Given the description of an element on the screen output the (x, y) to click on. 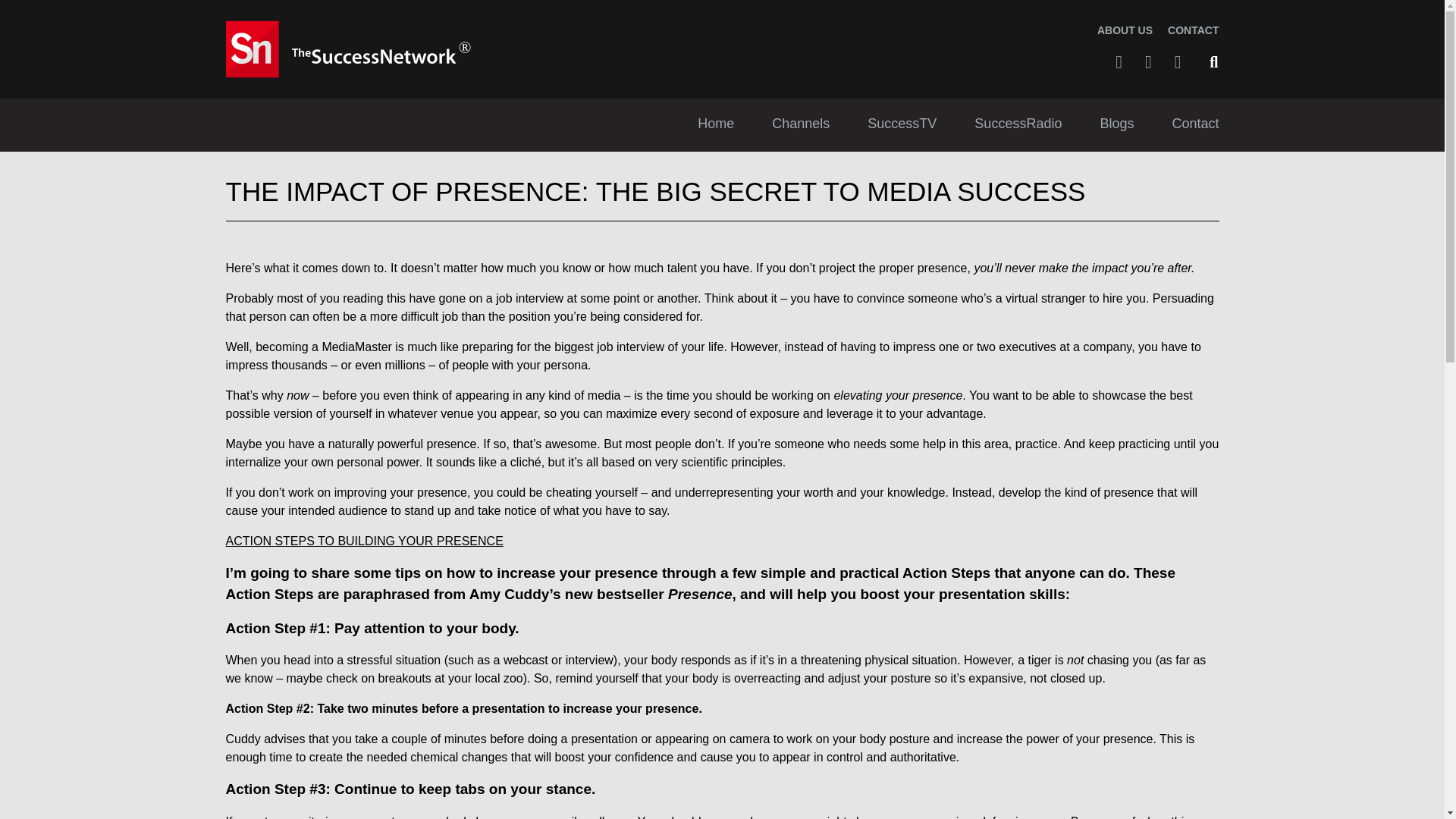
Contact (1195, 125)
ABOUT US (1125, 29)
Blogs (1116, 125)
Channels (800, 125)
TheSuccessNetwork (350, 48)
CONTACT (1192, 29)
Home (715, 125)
SuccessTV (901, 125)
SuccessRadio (1017, 125)
